Given the description of an element on the screen output the (x, y) to click on. 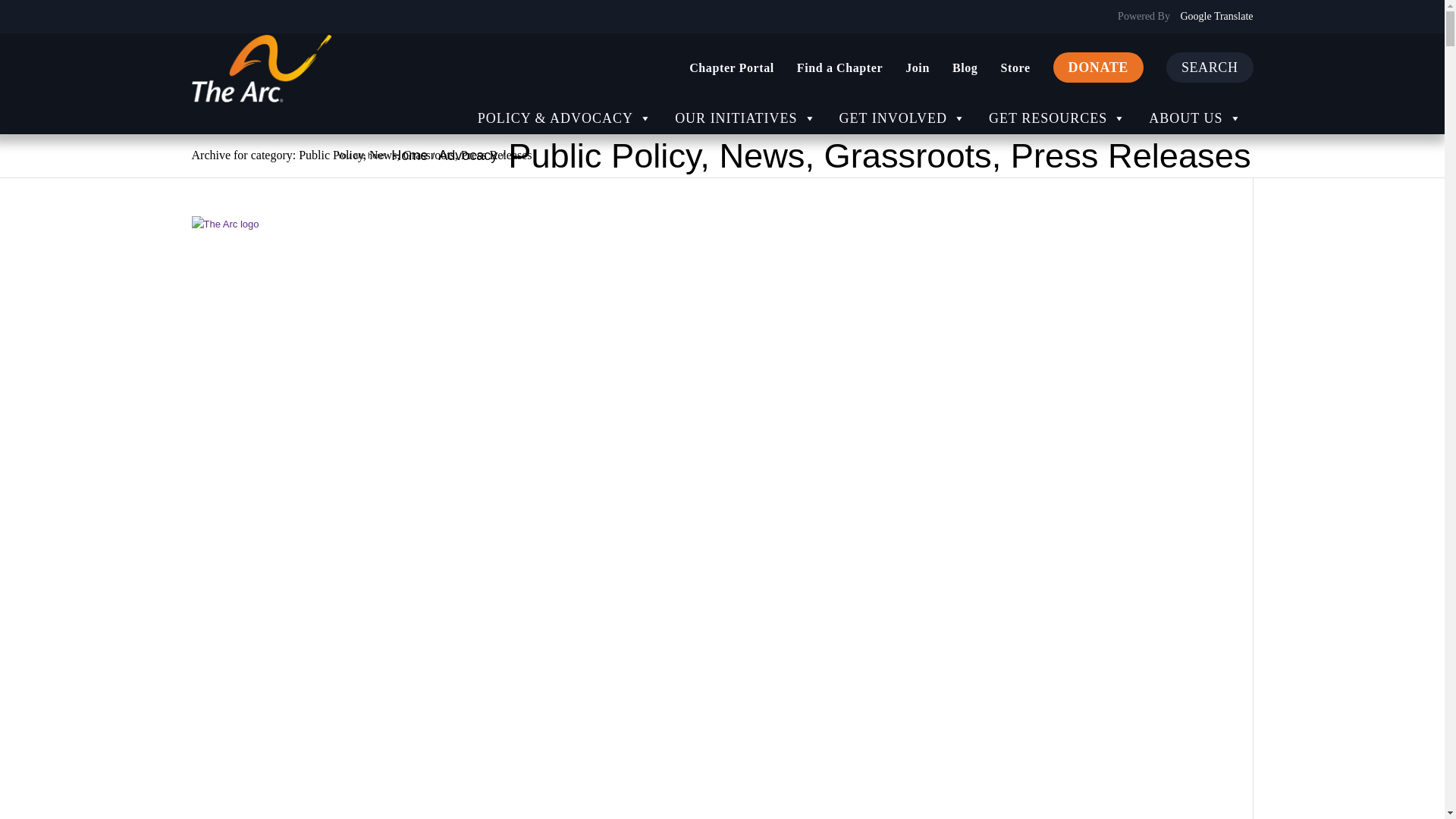
The Arc (408, 155)
Advocacy (467, 155)
OUR INITIATIVES (745, 118)
